Given the description of an element on the screen output the (x, y) to click on. 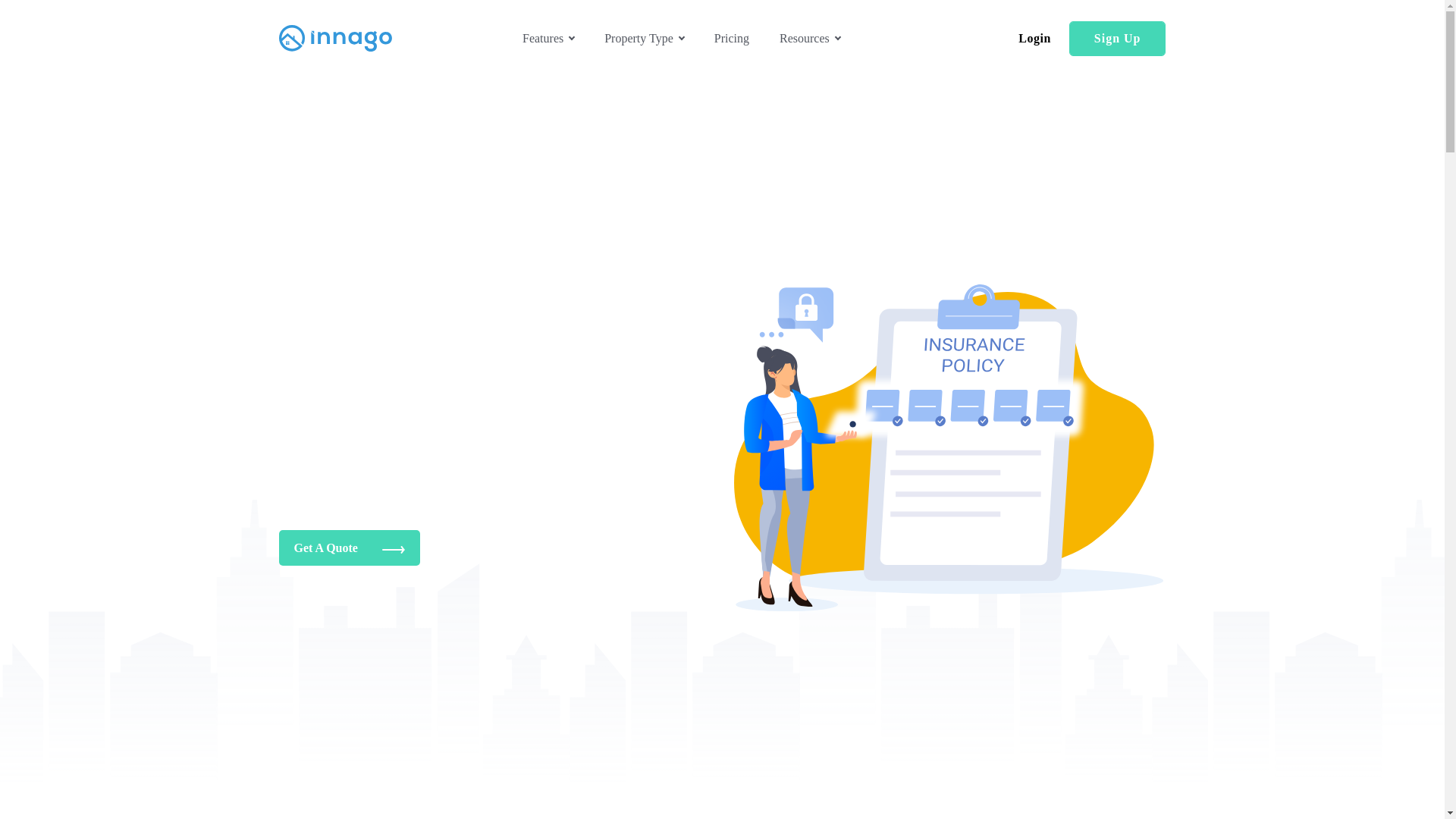
Property Type (644, 38)
Login (1034, 38)
Pricing (731, 38)
Sign Up (1117, 38)
Features (547, 38)
Resources (809, 38)
